Given the description of an element on the screen output the (x, y) to click on. 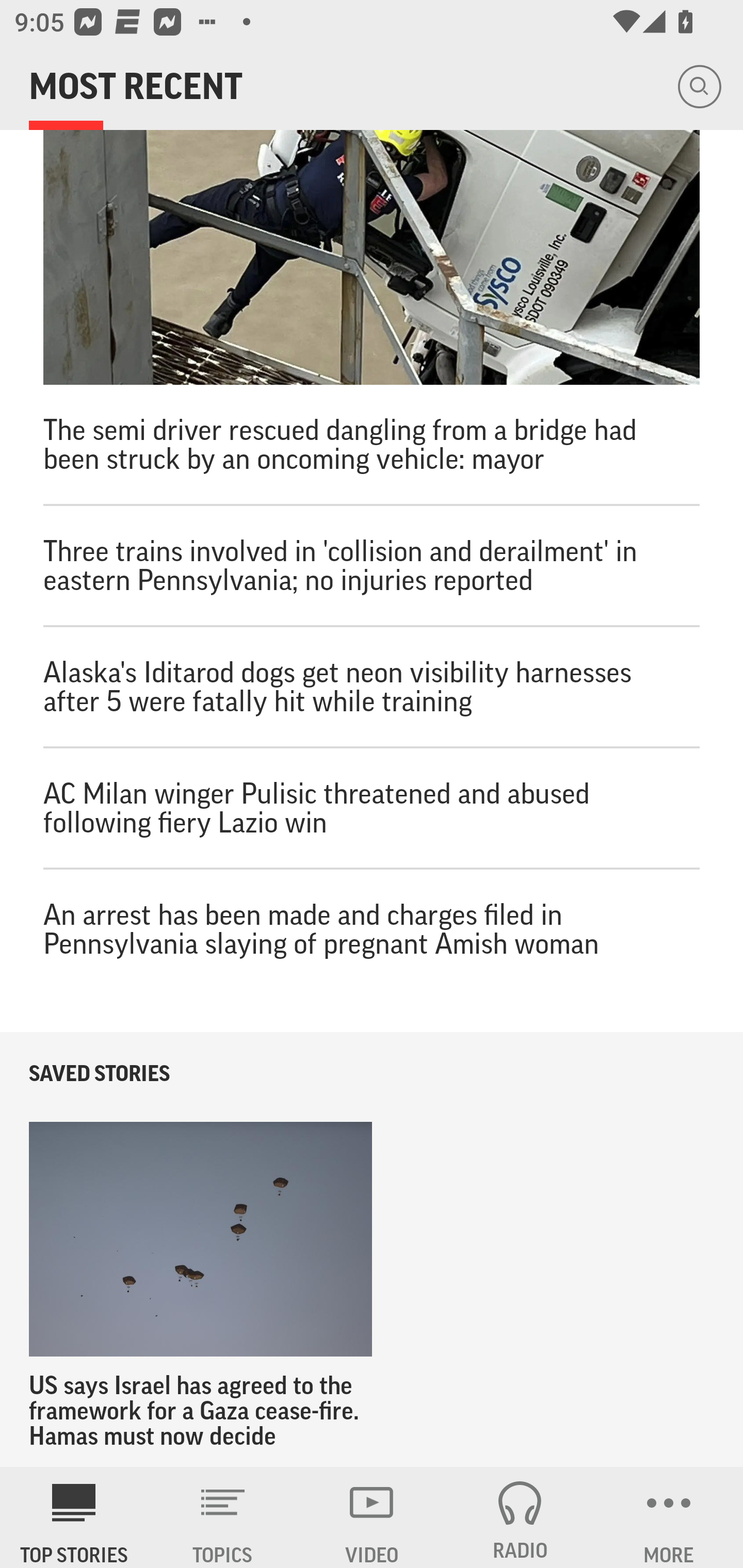
AP News TOP STORIES (74, 1517)
TOPICS (222, 1517)
VIDEO (371, 1517)
RADIO (519, 1517)
MORE (668, 1517)
